Given the description of an element on the screen output the (x, y) to click on. 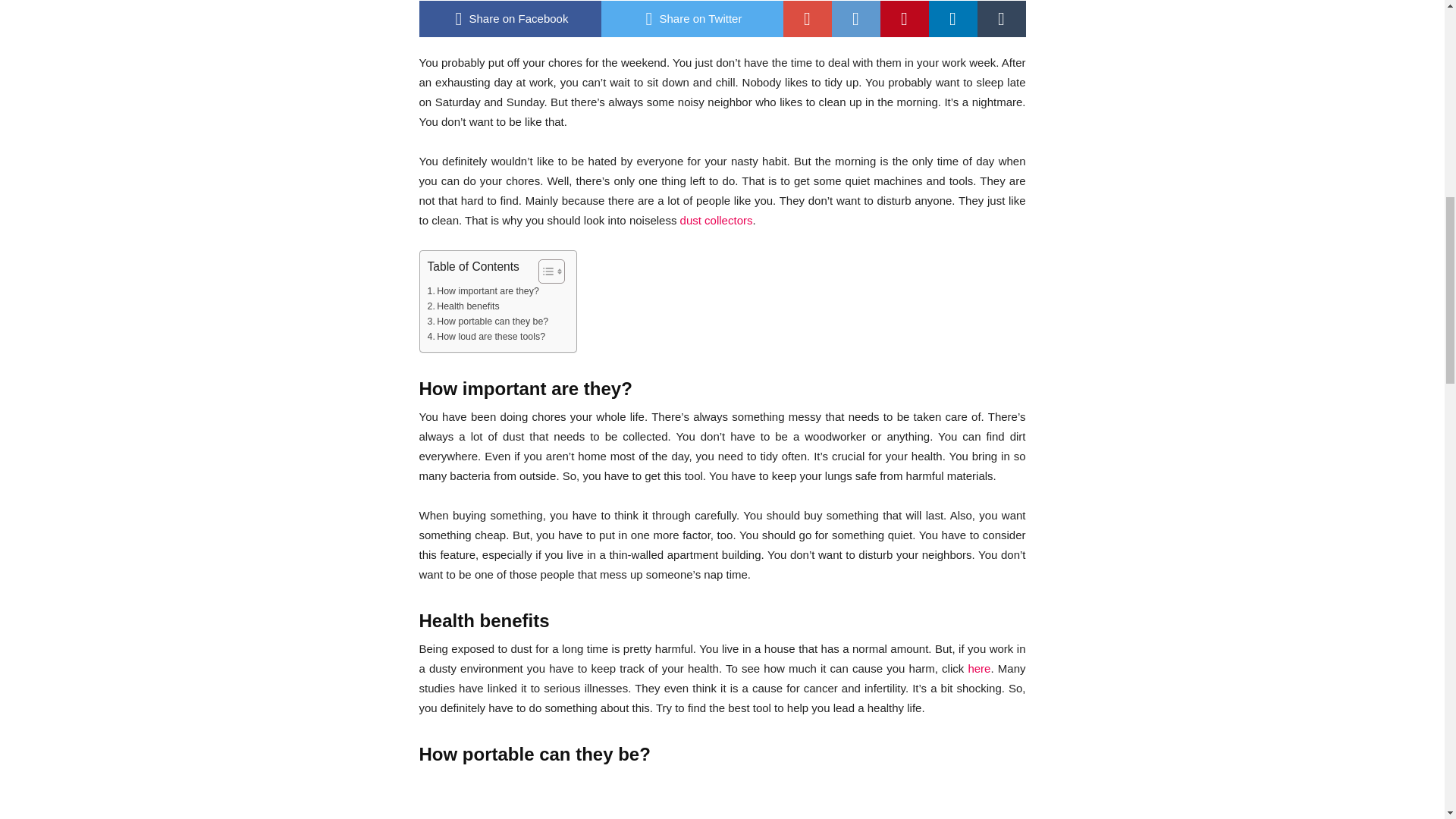
twitter (691, 18)
facebook (509, 18)
google (807, 18)
